Given the description of an element on the screen output the (x, y) to click on. 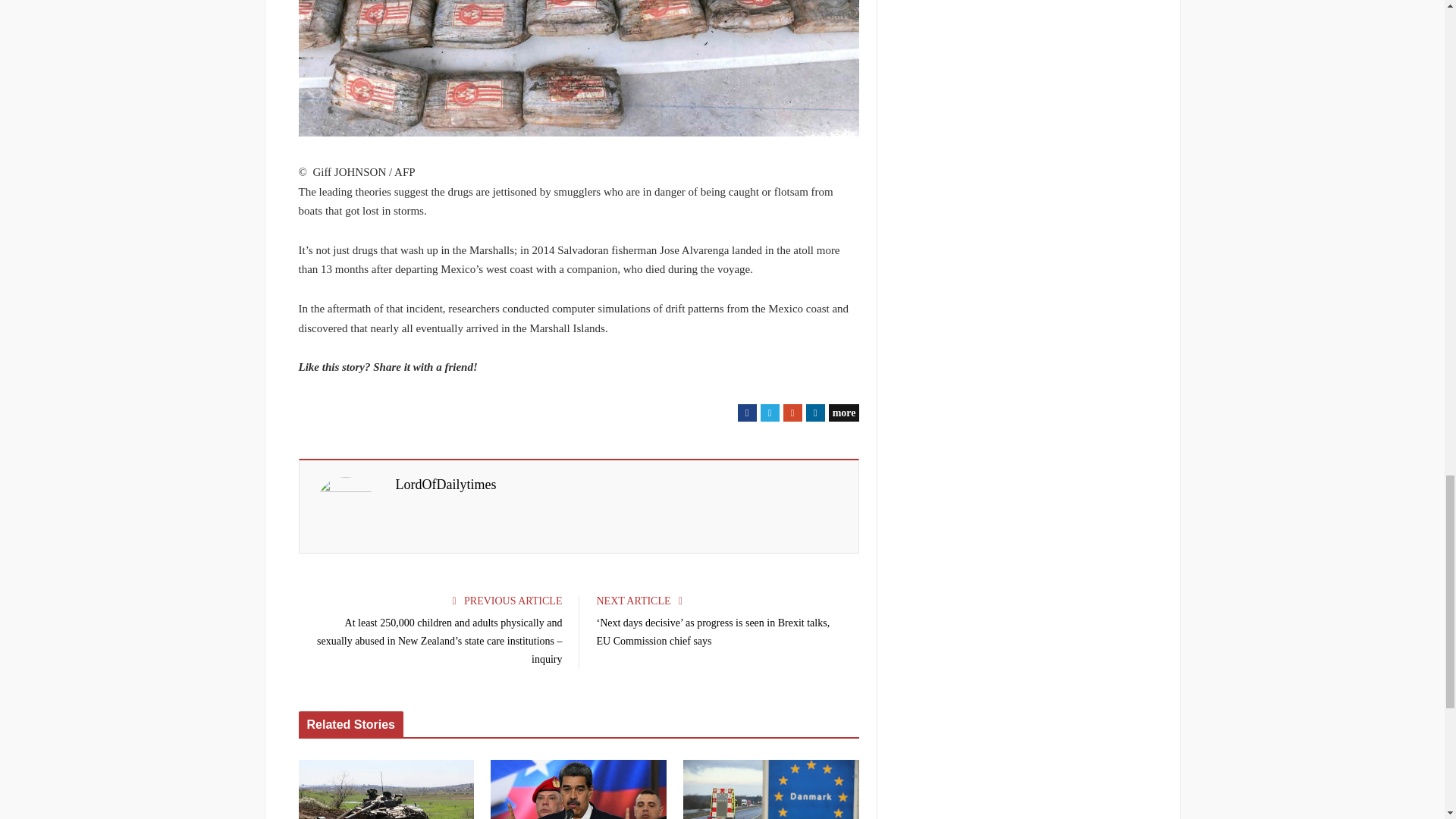
more (844, 412)
LordOfDailytimes (446, 484)
Twitter (769, 412)
Posts by LordOfDailytimes (446, 484)
LinkedIn (815, 412)
Facebook (747, 412)
